Given the description of an element on the screen output the (x, y) to click on. 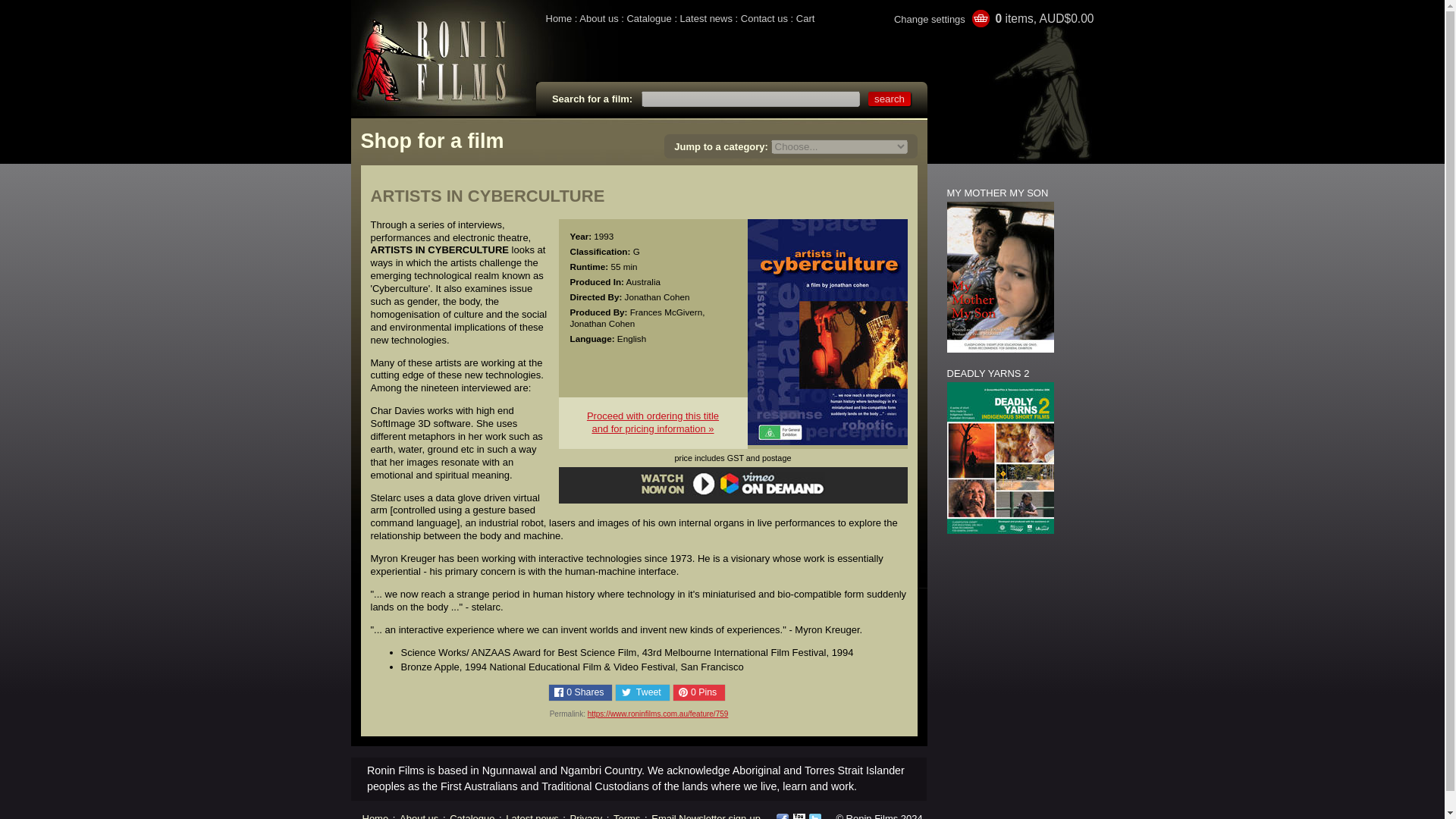
Latest news (531, 816)
Pin on Pinterest (698, 692)
Home (559, 18)
0 Shares (580, 692)
Catalogue (648, 18)
Change your settings (652, 422)
Terms (626, 816)
Email Newsletter sign-up (705, 816)
Share on Twitter (641, 692)
Share on Facebook (580, 692)
Latest news (705, 18)
Home (375, 816)
About us (418, 816)
0 Pins (698, 692)
 Tweet (641, 692)
